Given the description of an element on the screen output the (x, y) to click on. 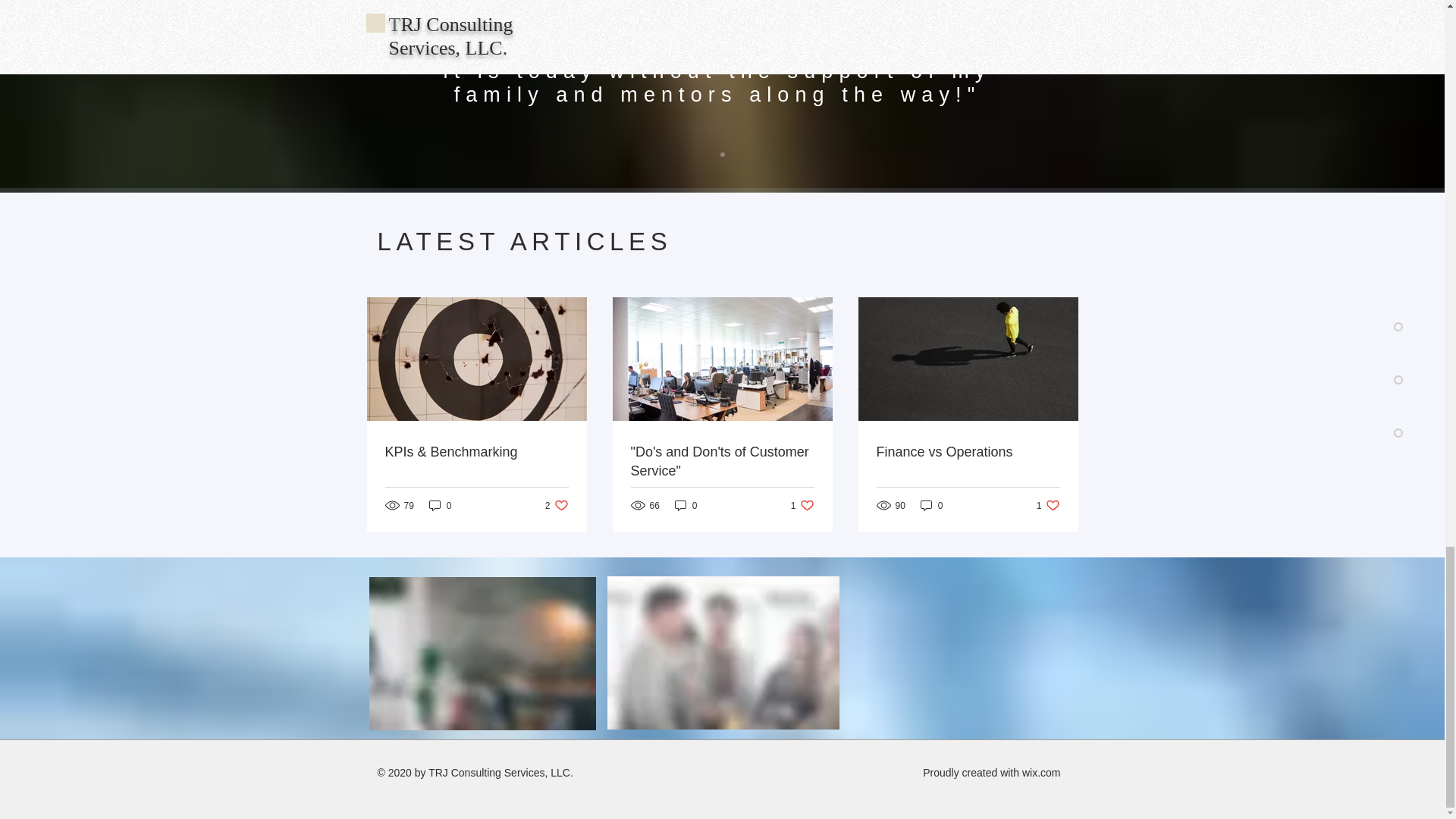
Event Management (1047, 504)
0 (481, 653)
Finance vs Operations (440, 504)
"Do's and Don'ts of Customer Service" (967, 451)
wix.com (721, 460)
0 (1041, 772)
0 (556, 504)
